Given the description of an element on the screen output the (x, y) to click on. 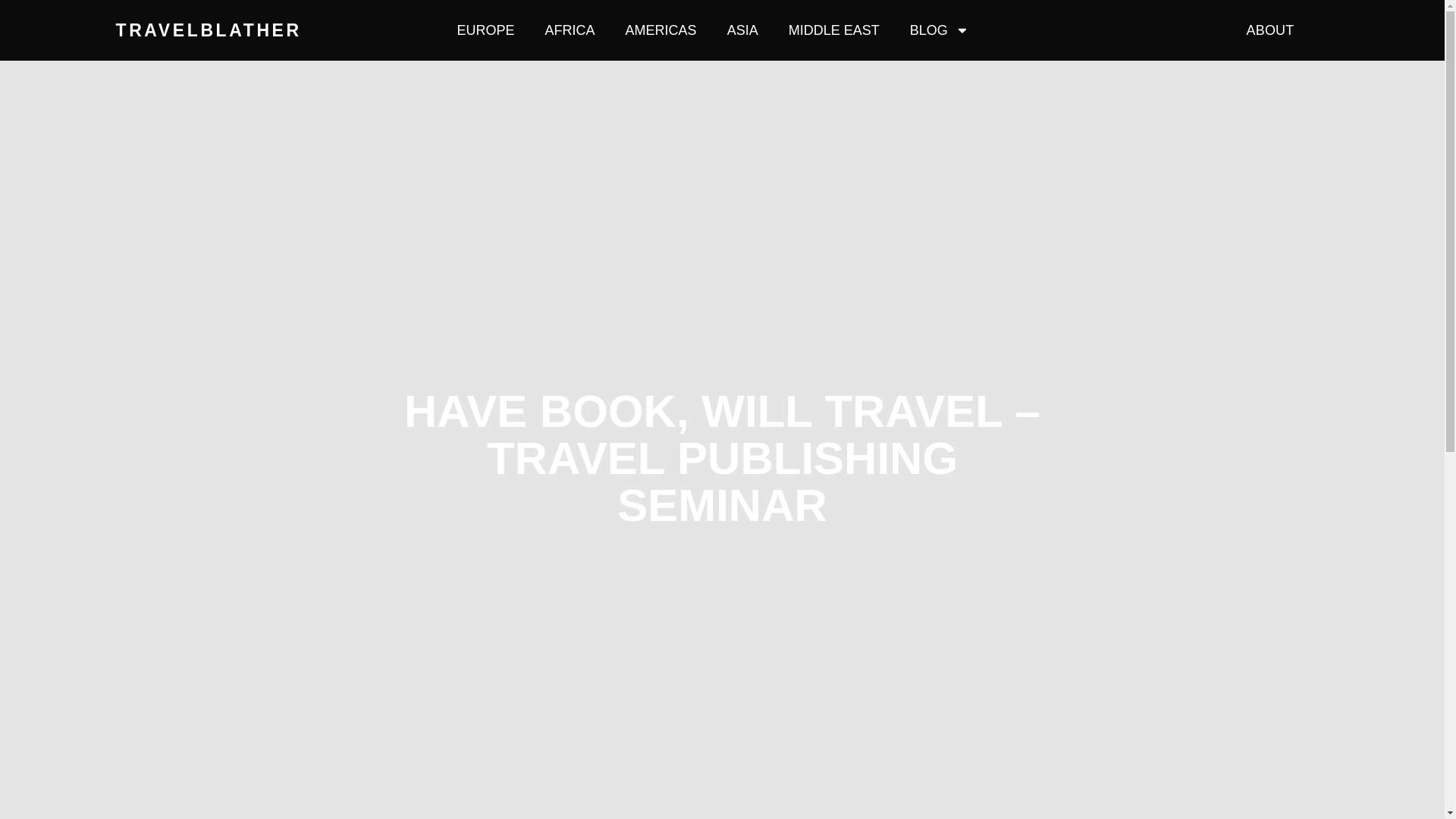
AFRICA (569, 30)
TRAVELBLATHER (208, 29)
AMERICAS (660, 30)
MIDDLE EAST (834, 30)
EUROPE (485, 30)
ASIA (742, 30)
ABOUT (1271, 30)
BLOG (939, 30)
